Given the description of an element on the screen output the (x, y) to click on. 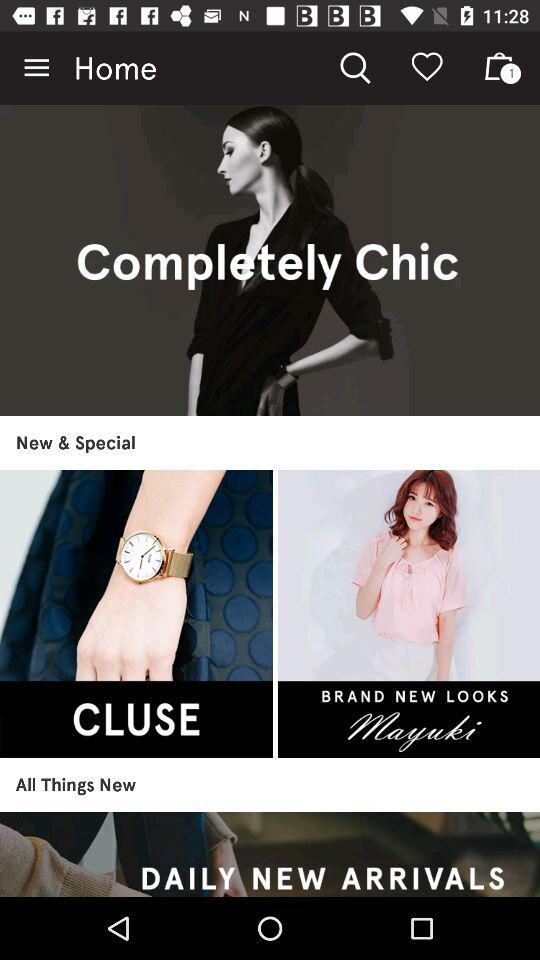
select the icon at the top left corner (36, 68)
